Given the description of an element on the screen output the (x, y) to click on. 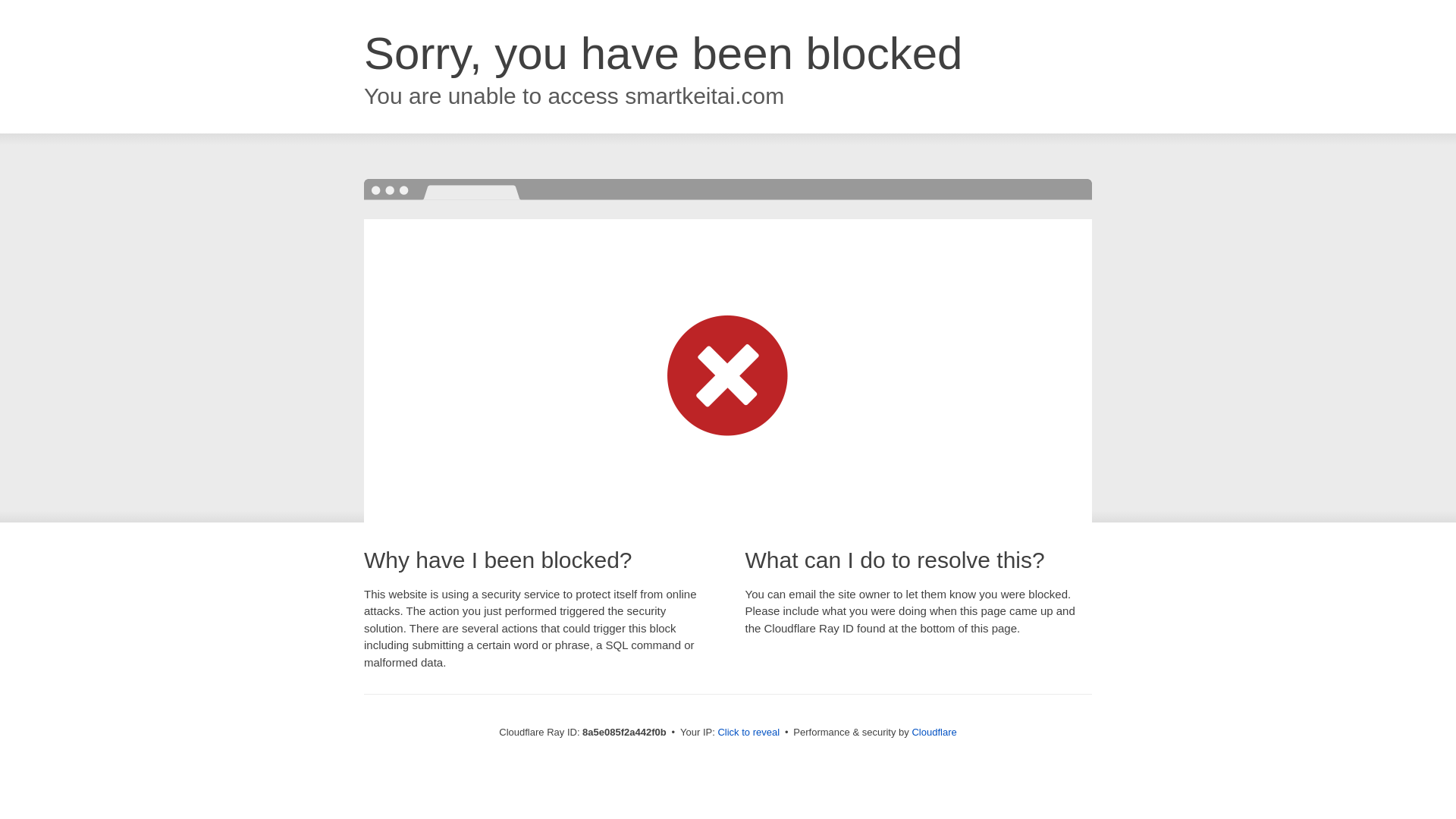
Click to reveal (747, 732)
Cloudflare (933, 731)
